Given the description of an element on the screen output the (x, y) to click on. 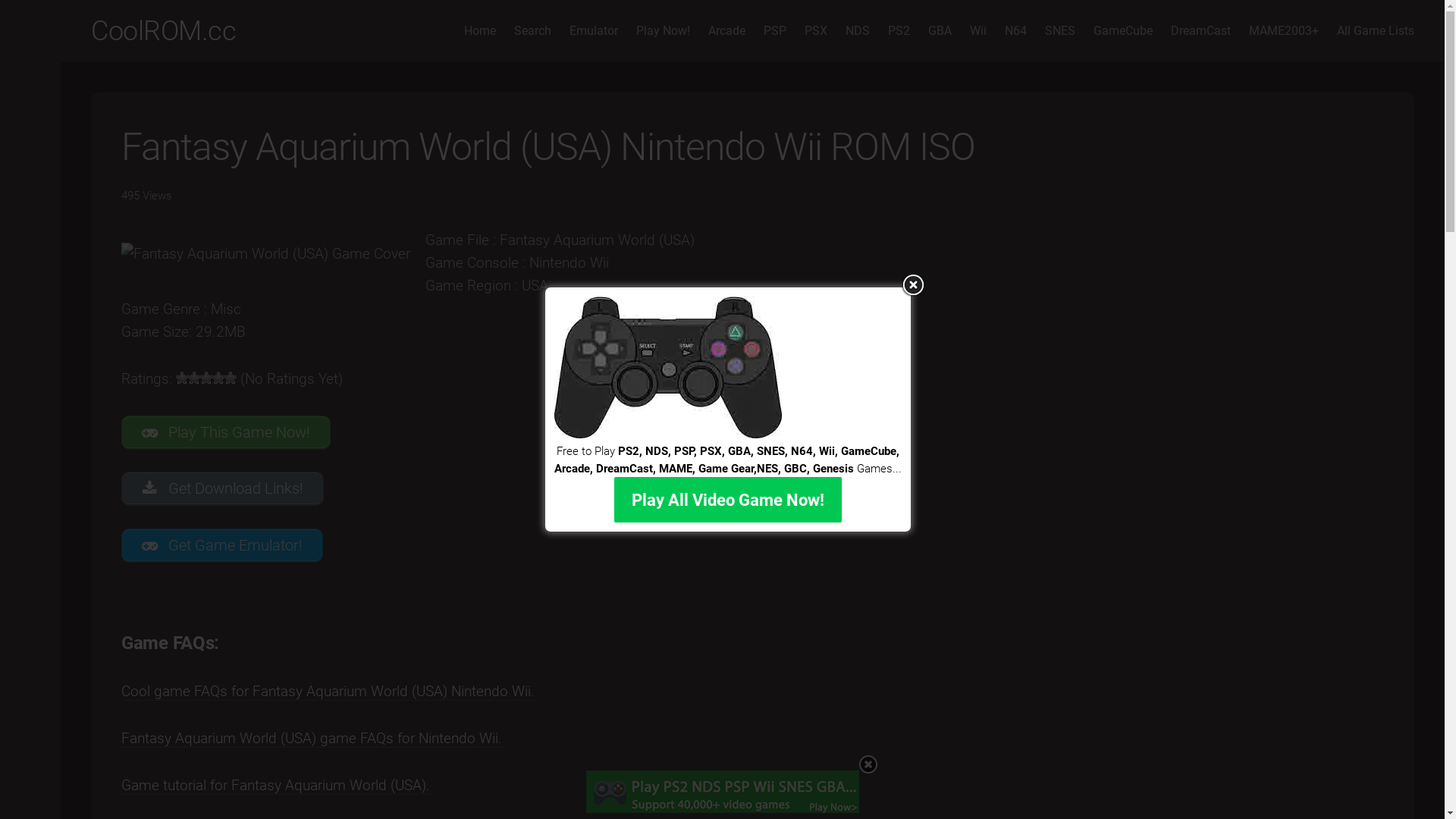
DreamCast Element type: text (1200, 30)
Wii Element type: text (977, 30)
Game tutorial for Fantasy Aquarium World (USA). Element type: text (275, 784)
Arcade Element type: text (726, 30)
Emulator Element type: text (593, 30)
PSX Element type: text (815, 30)
Play Now! Element type: text (663, 30)
MAME2003+ Element type: text (1283, 30)
Search Element type: text (532, 30)
Play All Video Game Now! Element type: text (727, 499)
Home Element type: text (479, 30)
NDS Element type: text (857, 30)
CoolROM.cc Element type: text (163, 30)
4 Stars Element type: hover (218, 377)
Fantasy Aquarium World (USA) game FAQs for Nintendo Wii. Element type: text (311, 737)
2 Stars Element type: hover (194, 377)
3 Stars Element type: hover (206, 377)
GBA Element type: text (939, 30)
PSP Element type: text (774, 30)
5 Stars Element type: hover (230, 377)
Play This Game Now! Element type: text (225, 431)
N64 Element type: text (1015, 30)
PS2 Element type: text (899, 30)
SNES Element type: text (1059, 30)
All Game Lists Element type: text (1375, 30)
GameCube Element type: text (1122, 30)
1 Star Element type: hover (181, 377)
Get Game Emulator! Element type: text (222, 544)
Get Download Links! Element type: text (222, 488)
